Given the description of an element on the screen output the (x, y) to click on. 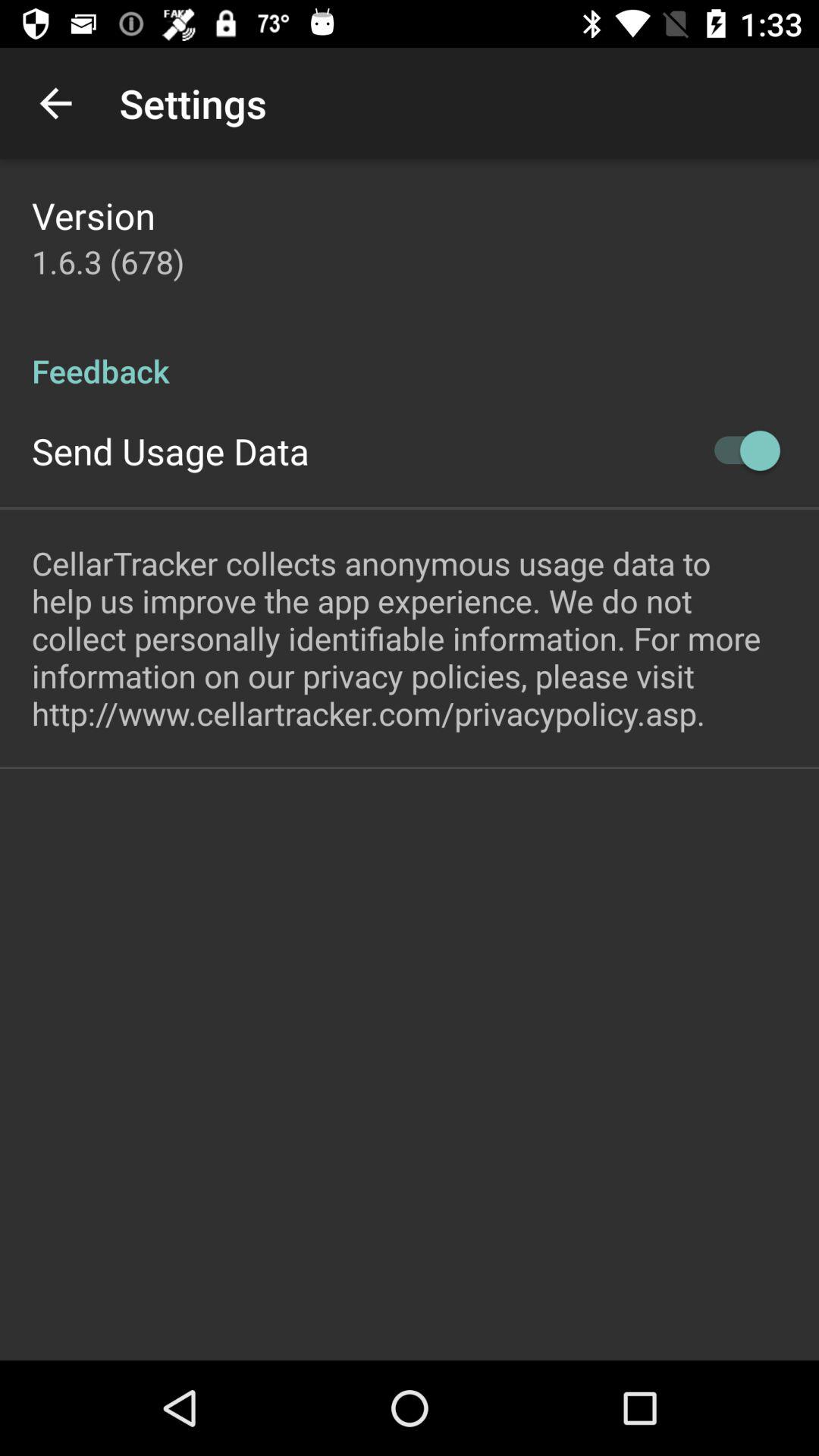
swipe to version item (93, 215)
